Given the description of an element on the screen output the (x, y) to click on. 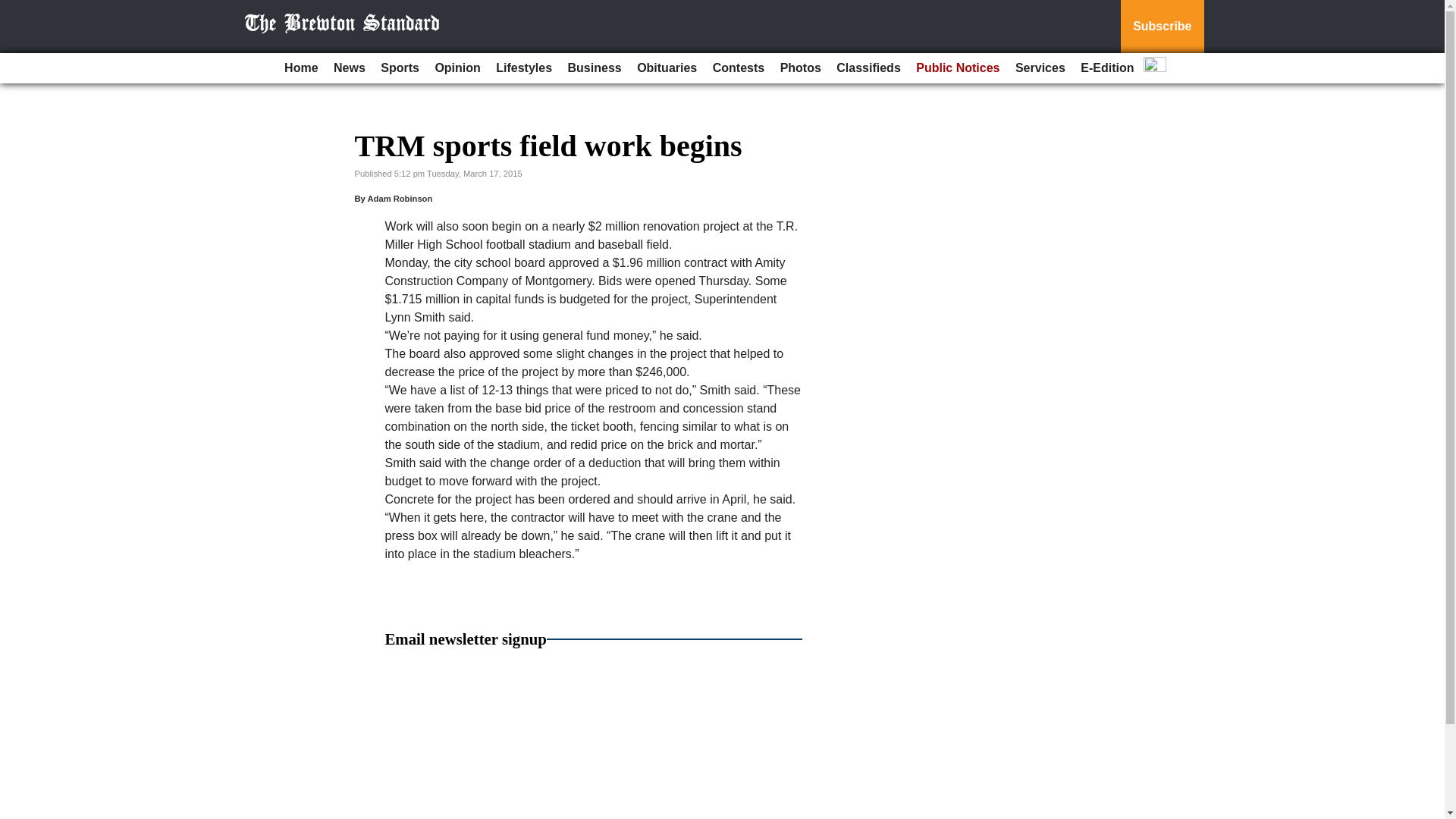
Contests (738, 68)
Public Notices (958, 68)
Obituaries (666, 68)
Lifestyles (523, 68)
Subscribe (1162, 26)
Opinion (457, 68)
News (349, 68)
Adam Robinson (399, 198)
E-Edition (1107, 68)
Services (1040, 68)
